Given the description of an element on the screen output the (x, y) to click on. 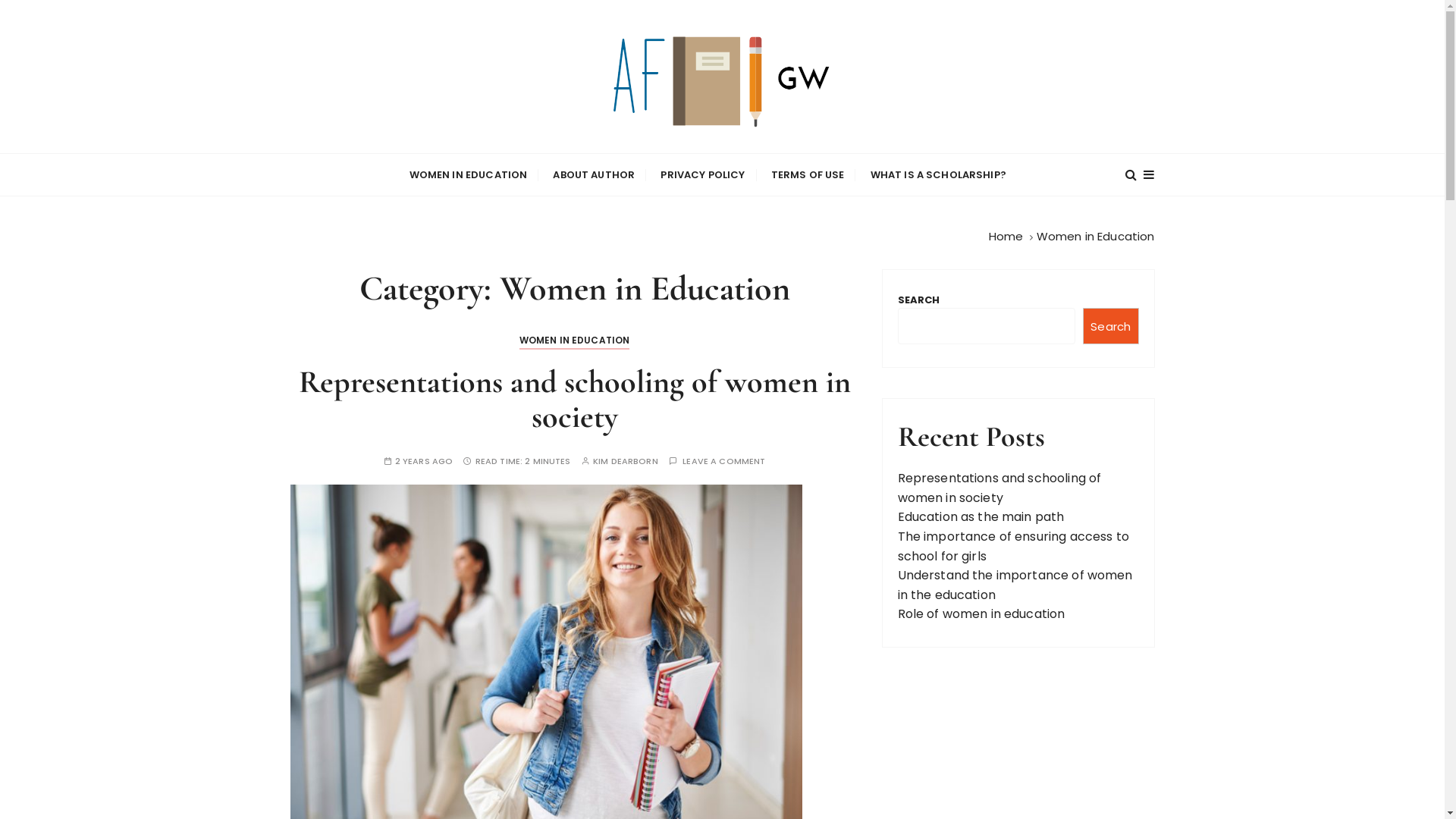
AFGW Element type: text (346, 163)
Search Element type: text (1110, 325)
PRIVACY POLICY Element type: text (702, 174)
WOMEN IN EDUCATION Element type: text (574, 340)
Representations and schooling of women in society Element type: text (999, 487)
WOMEN IN EDUCATION Element type: text (468, 174)
TERMS OF USE Element type: text (807, 174)
LEAVE A COMMENT Element type: text (723, 461)
Women in Education Element type: text (1095, 236)
Role of women in education Element type: text (981, 613)
Home Element type: text (1005, 236)
ABOUT AUTHOR Element type: text (593, 174)
Representations and schooling of women in society Element type: text (574, 399)
WHAT IS A SCHOLARSHIP? Element type: text (938, 174)
Education as the main path Element type: text (980, 516)
Understand the importance of women in the education Element type: text (1014, 584)
KIM DEARBORN Element type: text (625, 461)
The importance of ensuring access to school for girls Element type: text (1013, 545)
